Given the description of an element on the screen output the (x, y) to click on. 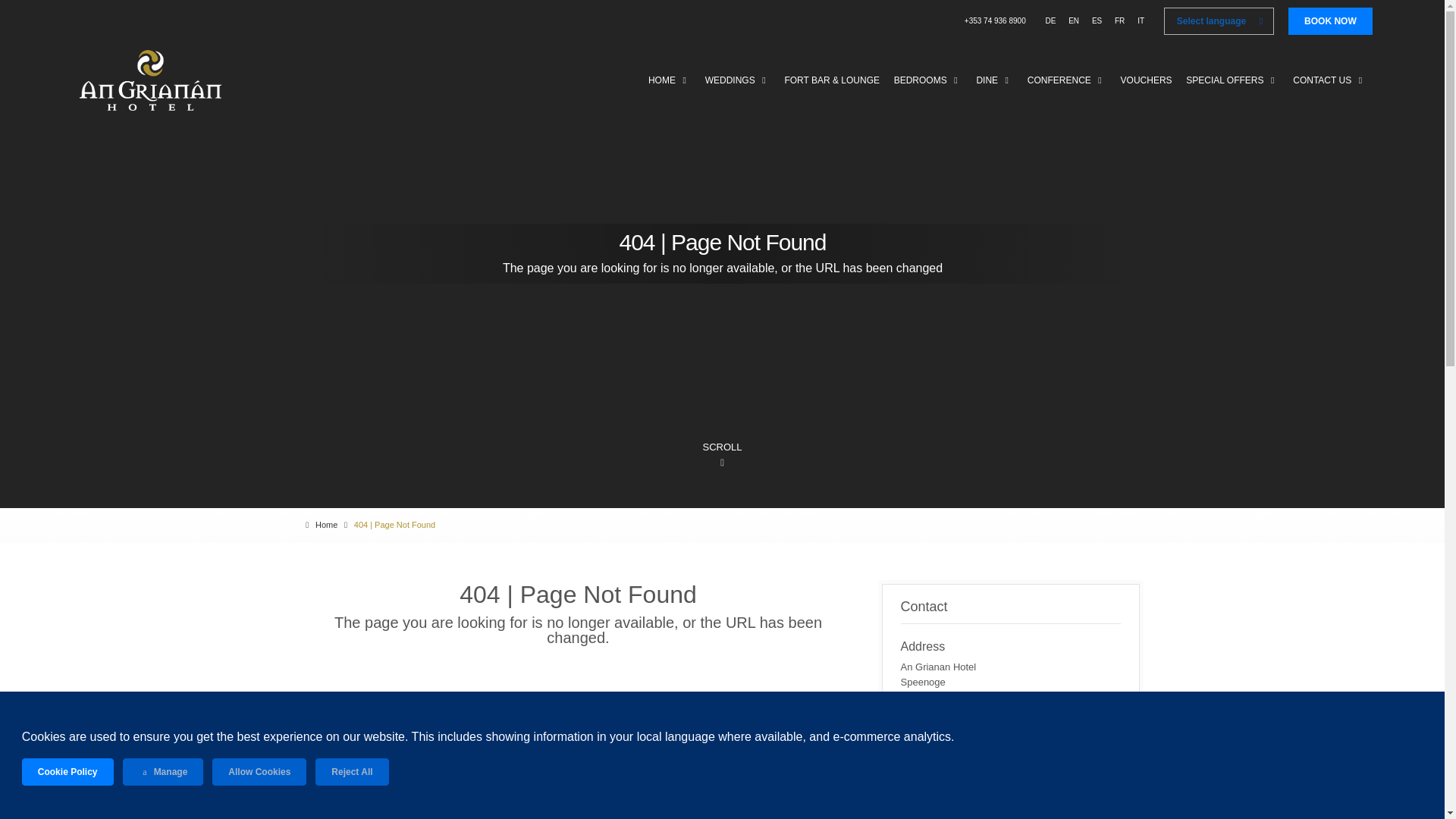
HOME (668, 79)
Select language (1219, 21)
BEDROOMS (928, 79)
CONFERENCE (1067, 79)
VOUCHERS (1146, 79)
SCROLL (721, 454)
DINE (995, 79)
WEDDINGS (737, 79)
SPECIAL OFFERS (1232, 79)
